Given the description of an element on the screen output the (x, y) to click on. 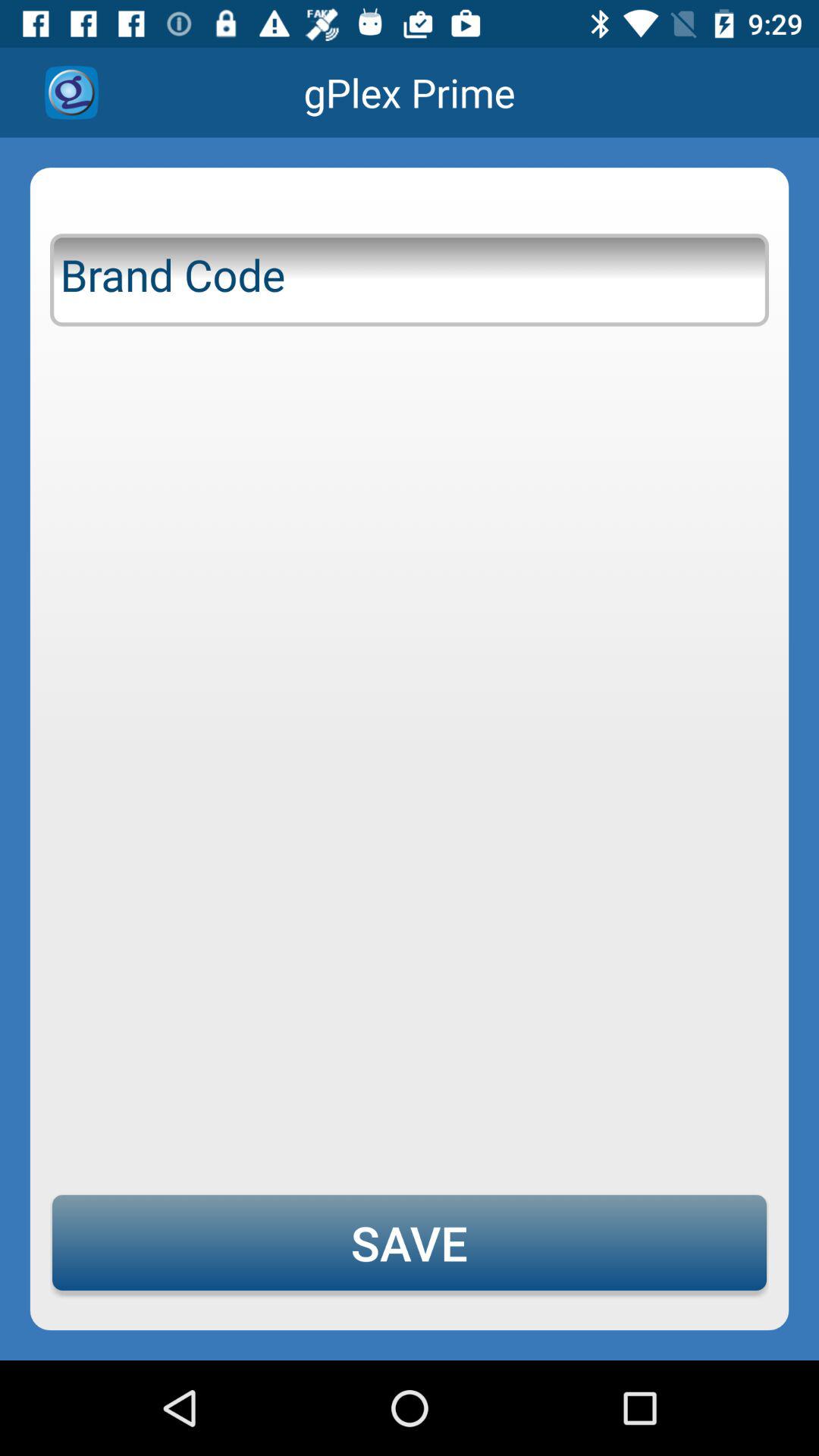
turn on icon above save item (409, 277)
